Given the description of an element on the screen output the (x, y) to click on. 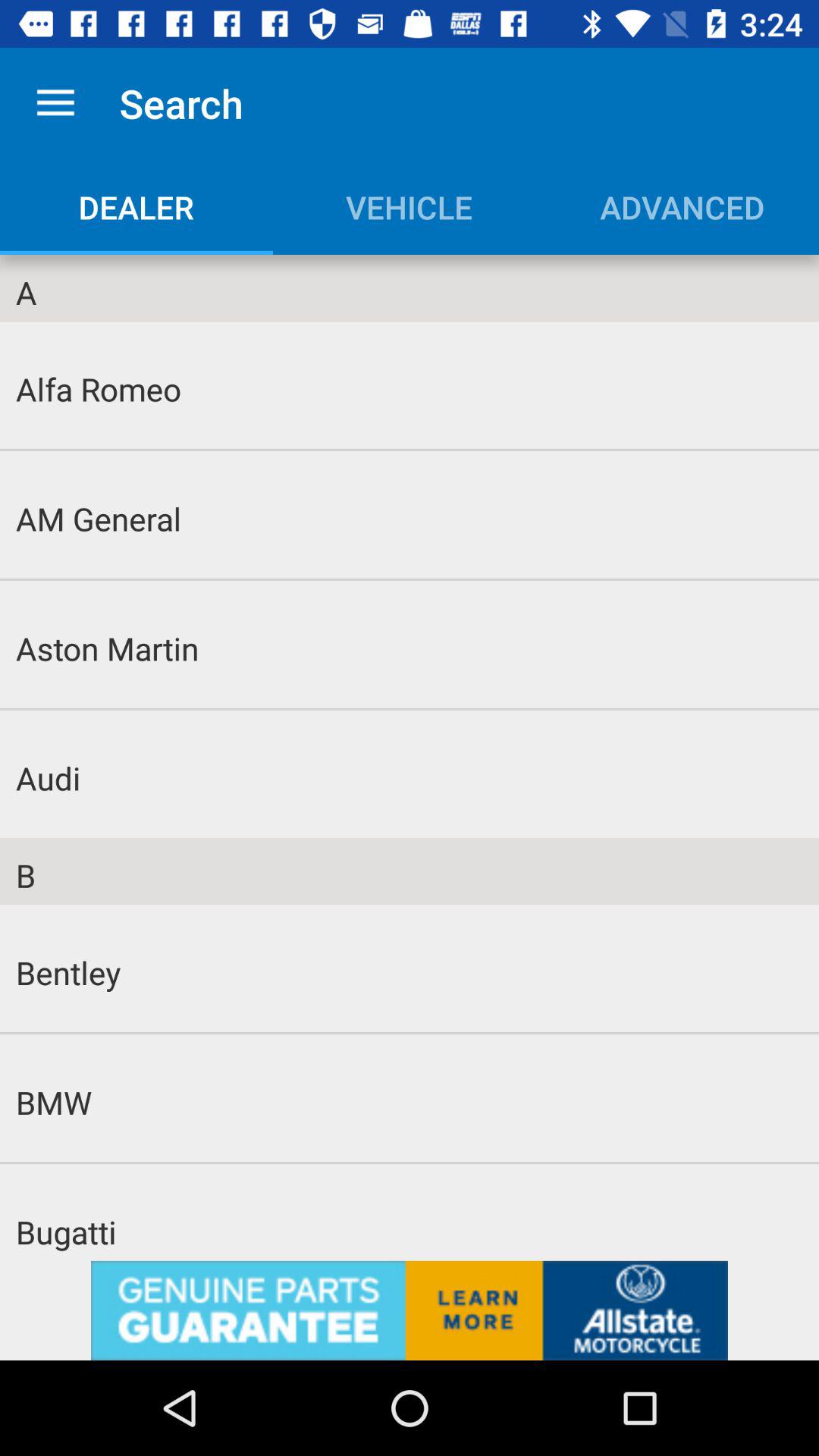
launch app to the left of the search icon (55, 103)
